Given the description of an element on the screen output the (x, y) to click on. 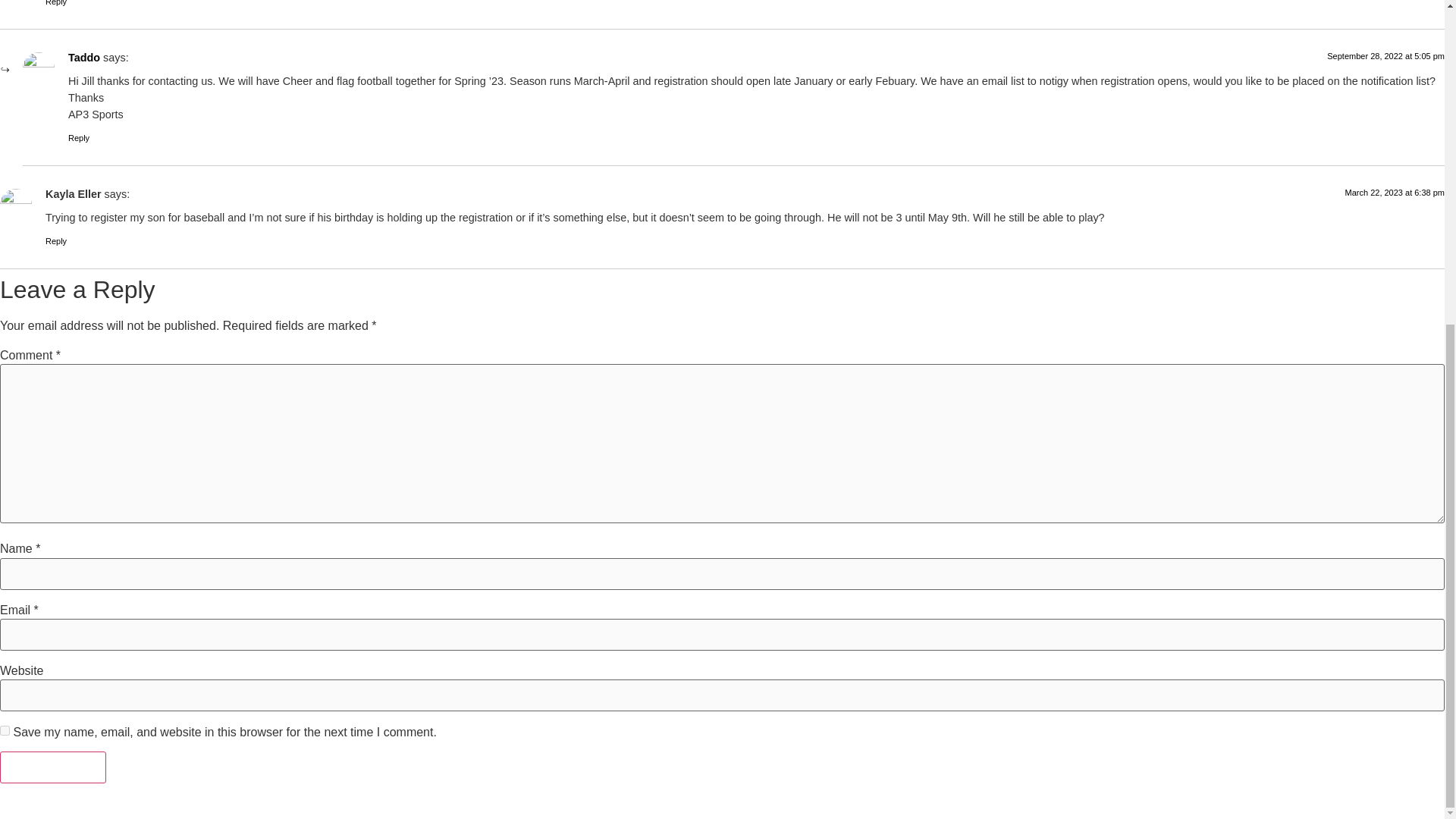
Post Comment (53, 766)
Reply (78, 137)
yes (5, 730)
Reply (55, 2)
Reply (55, 240)
Taddo (84, 57)
Post Comment (53, 766)
